Given the description of an element on the screen output the (x, y) to click on. 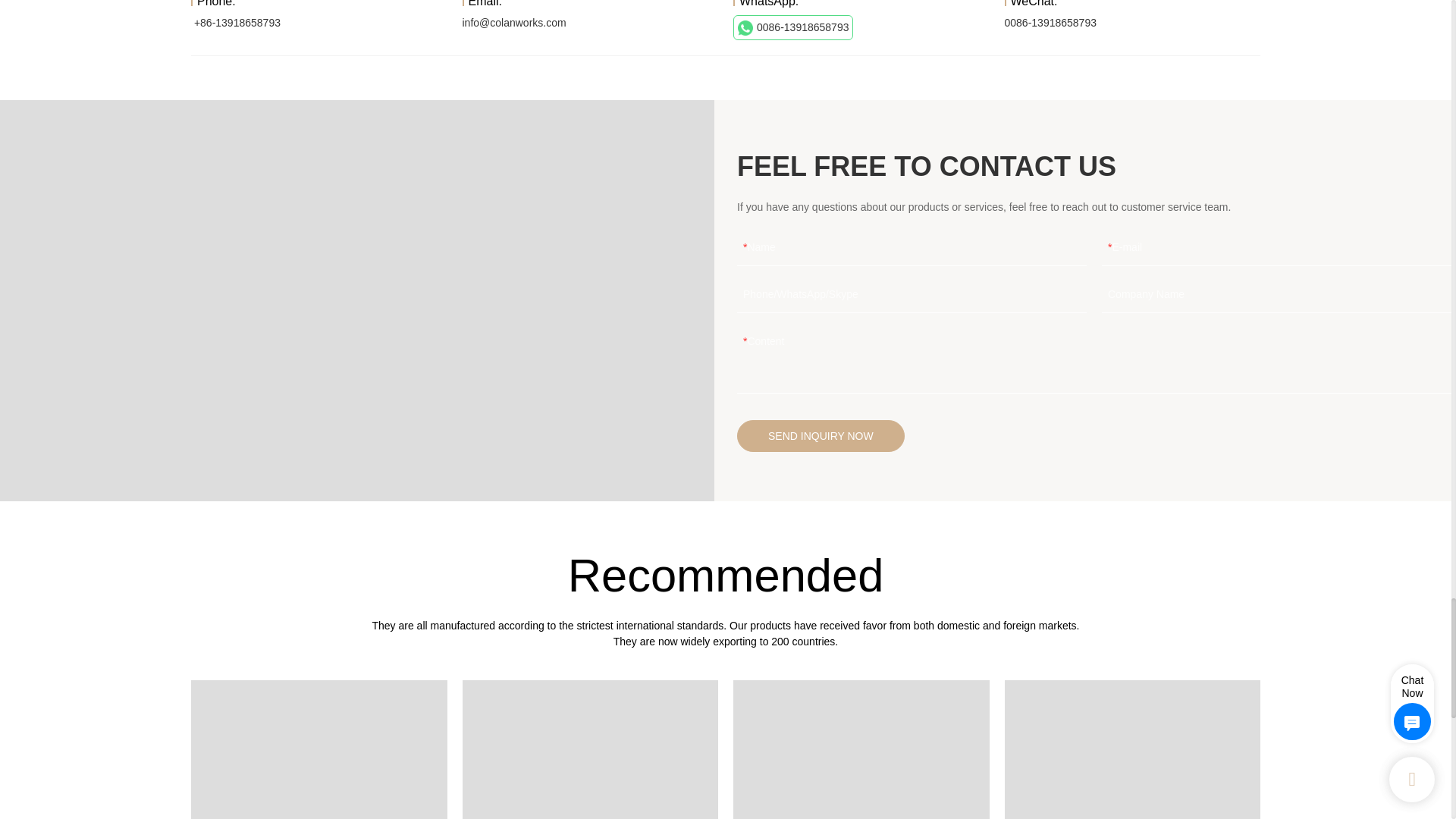
SEND INQUIRY NOW (820, 436)
0086-13918658793 (793, 27)
